Given the description of an element on the screen output the (x, y) to click on. 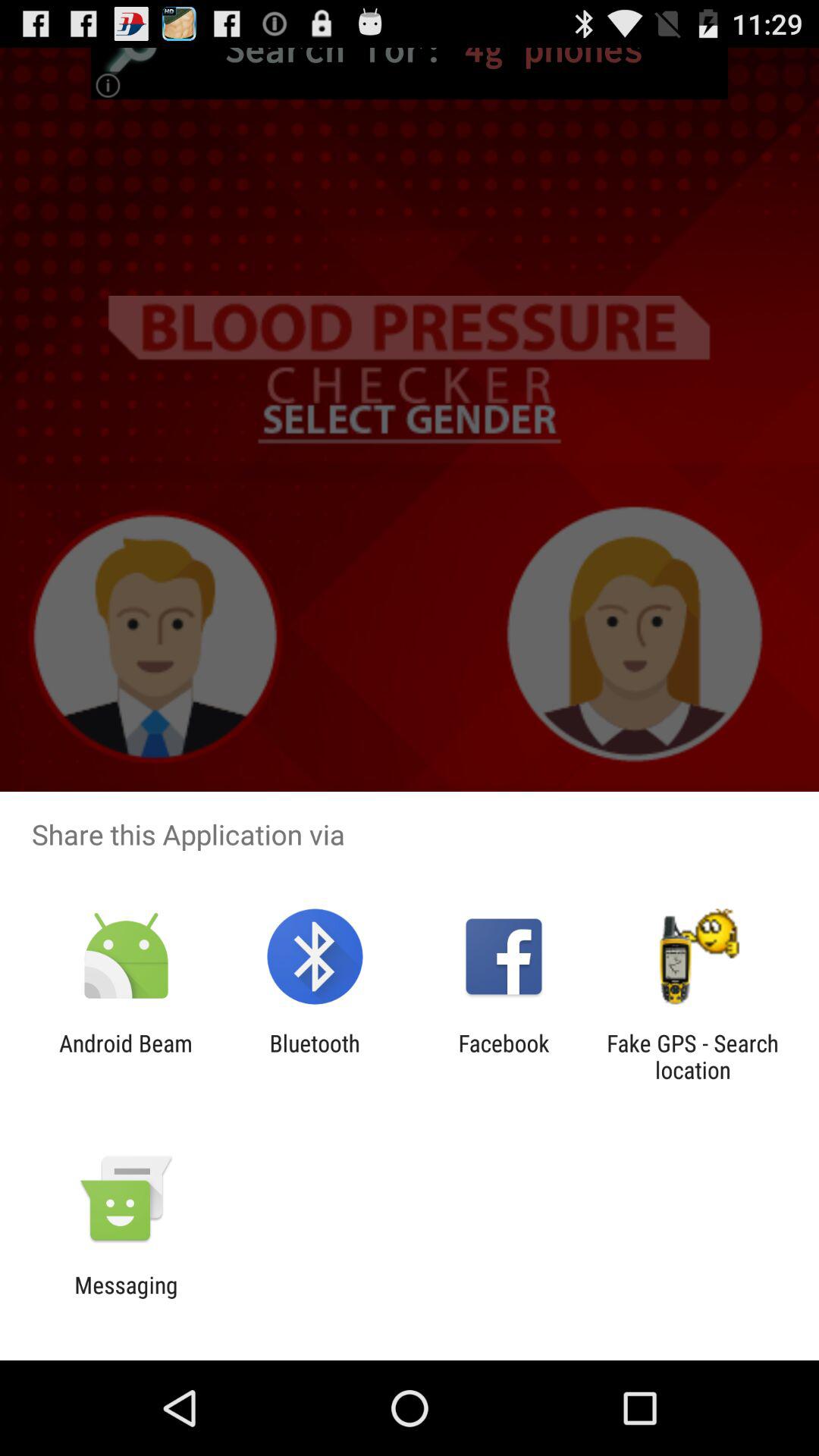
click icon to the right of the facebook app (692, 1056)
